Given the description of an element on the screen output the (x, y) to click on. 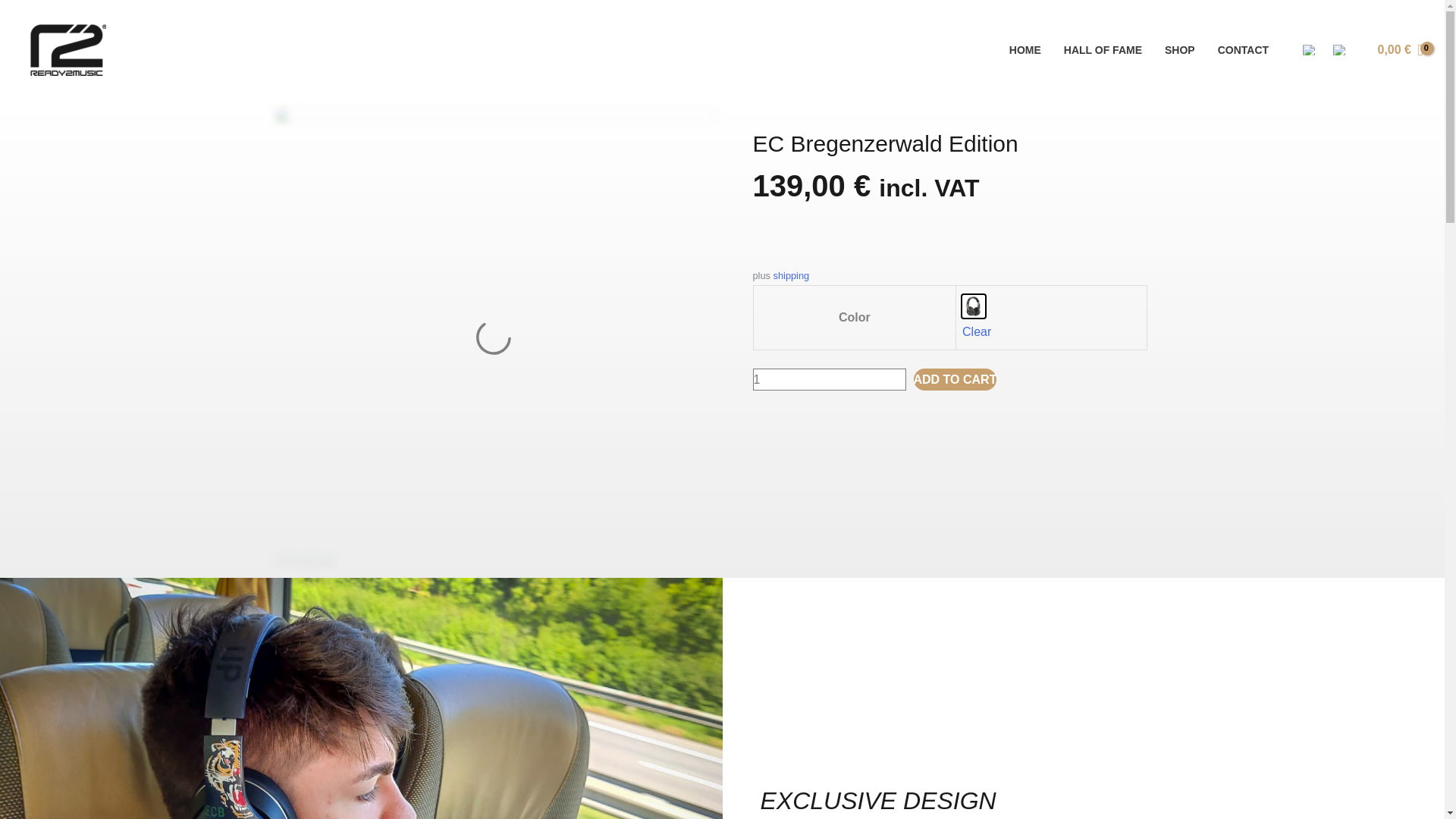
ADD TO CART (953, 379)
Clear (976, 331)
Black (973, 305)
1 (828, 379)
HOME (1024, 50)
HALL OF FAME (1102, 50)
CONTACT (1243, 50)
shipping (791, 275)
SHOP (1180, 50)
